Given the description of an element on the screen output the (x, y) to click on. 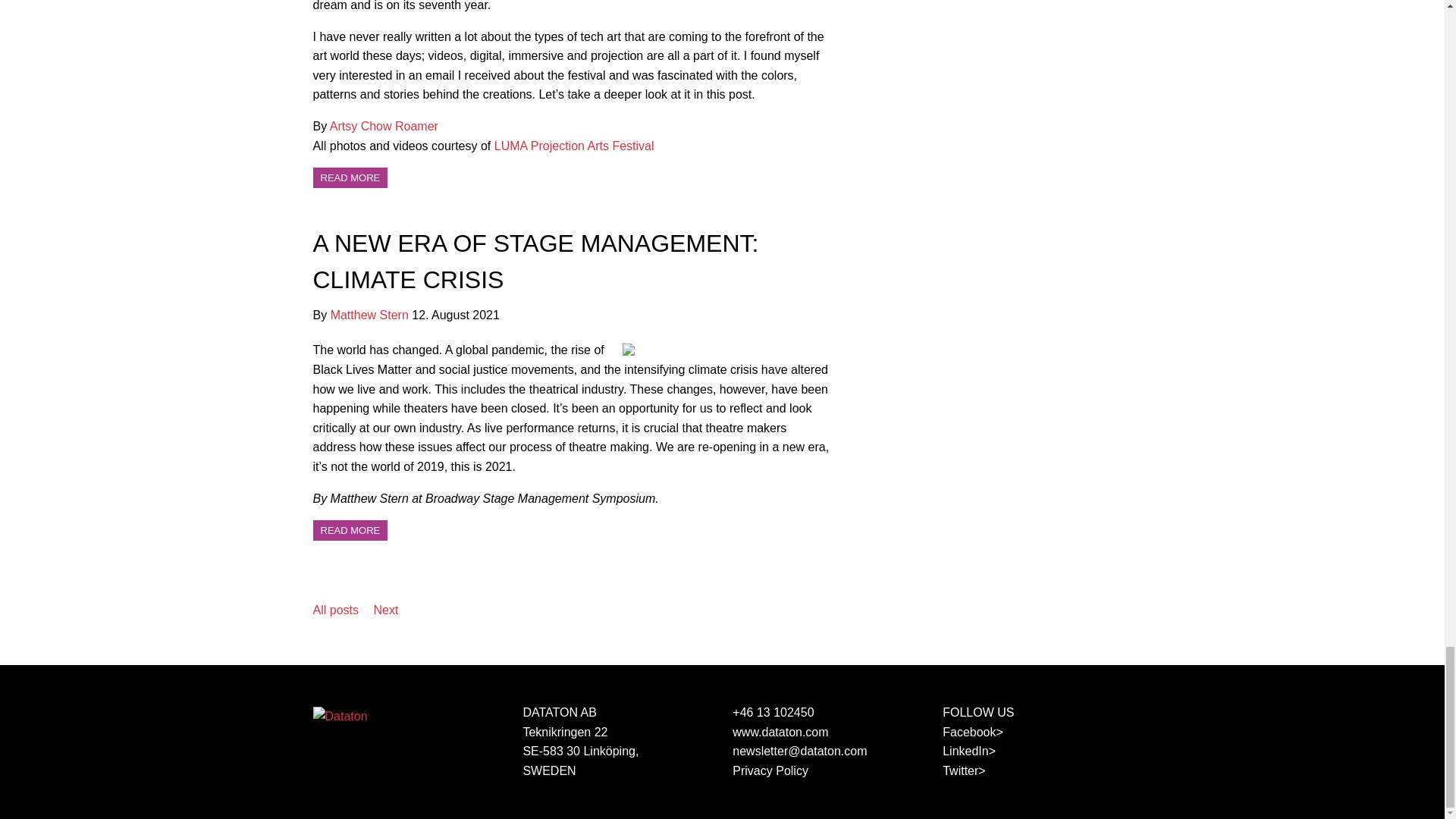
Dataton (339, 716)
